Given the description of an element on the screen output the (x, y) to click on. 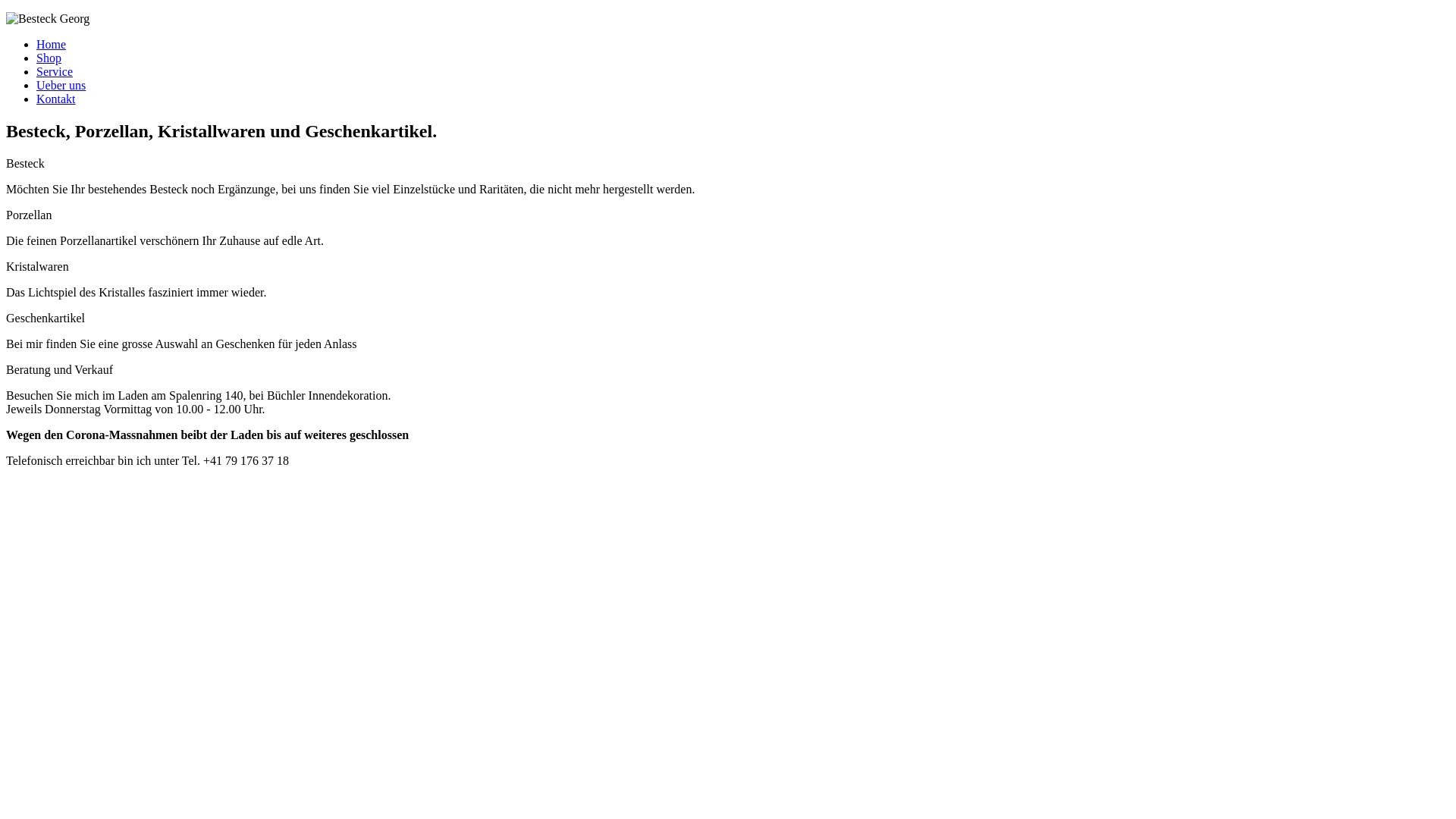
Kontakt Element type: text (55, 98)
Ueber uns Element type: text (60, 84)
Shop Element type: text (48, 57)
Service Element type: text (54, 71)
Home Element type: text (50, 43)
